Given the description of an element on the screen output the (x, y) to click on. 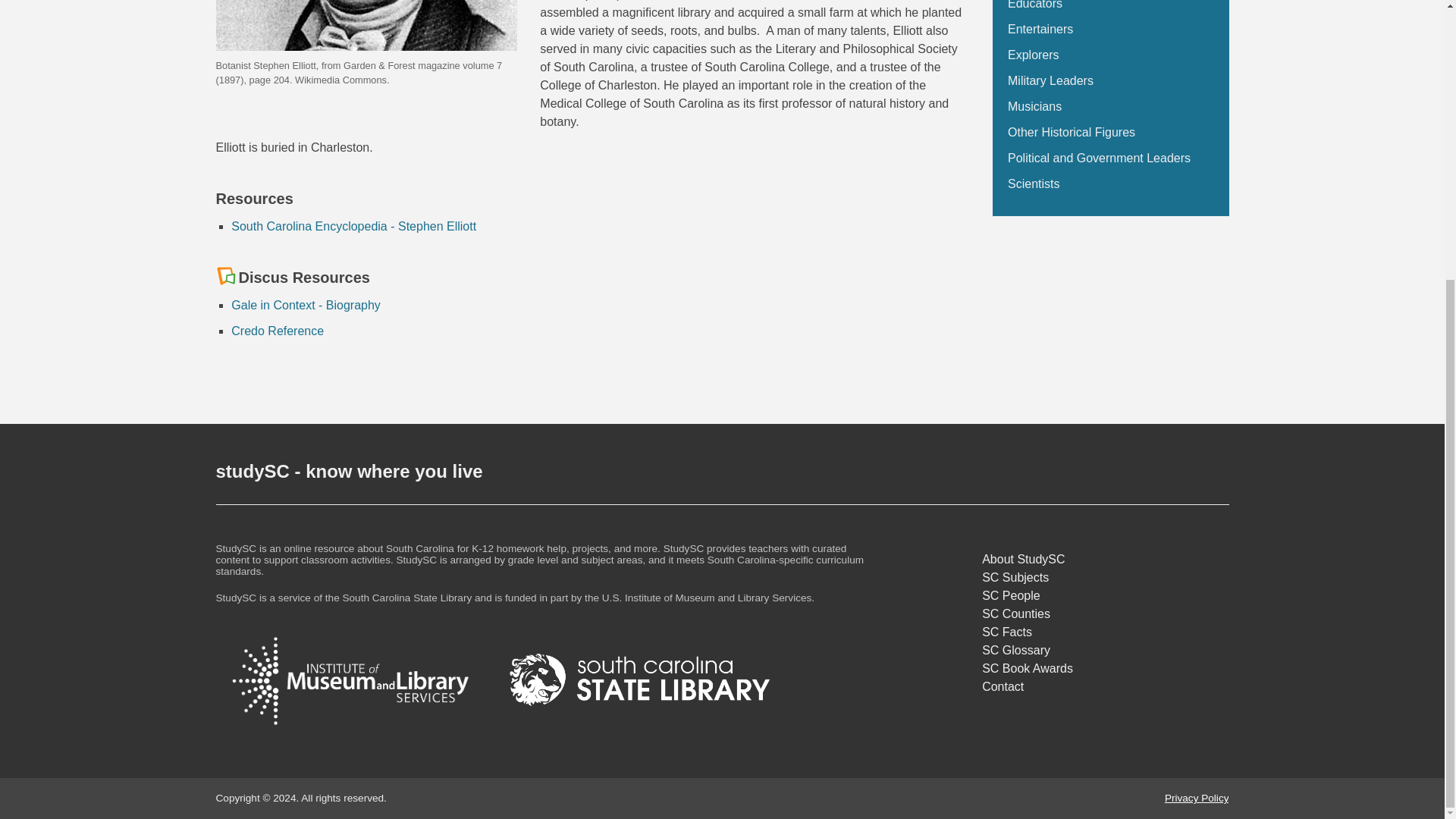
Explorers (1033, 54)
About StudySC (1104, 559)
SC Book Awards (1104, 669)
Entertainers (1040, 29)
Military Leaders (1050, 80)
Political and Government Leaders (1099, 157)
SC Subjects (1104, 577)
Gale in Context - Biography (305, 305)
SC Counties (1104, 614)
SC Facts (1104, 632)
SC People (1104, 596)
South Carolina Encyclopedia - Stephen Elliott (353, 226)
SC Glossary (1104, 650)
Educators (1034, 4)
Credo Reference (277, 330)
